Given the description of an element on the screen output the (x, y) to click on. 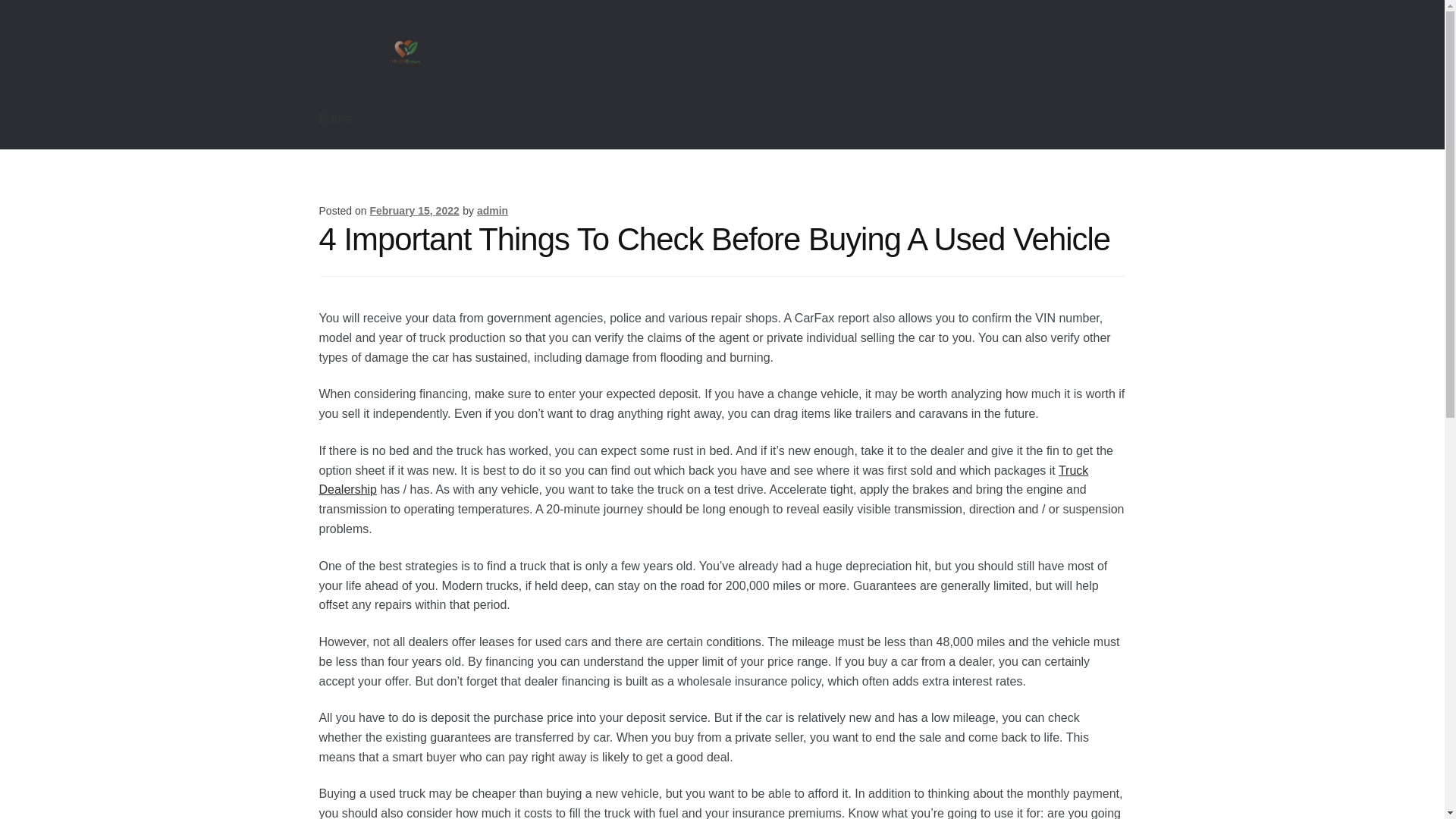
Home (335, 118)
February 15, 2022 (413, 210)
Truck Dealership (703, 480)
admin (492, 210)
